Given the description of an element on the screen output the (x, y) to click on. 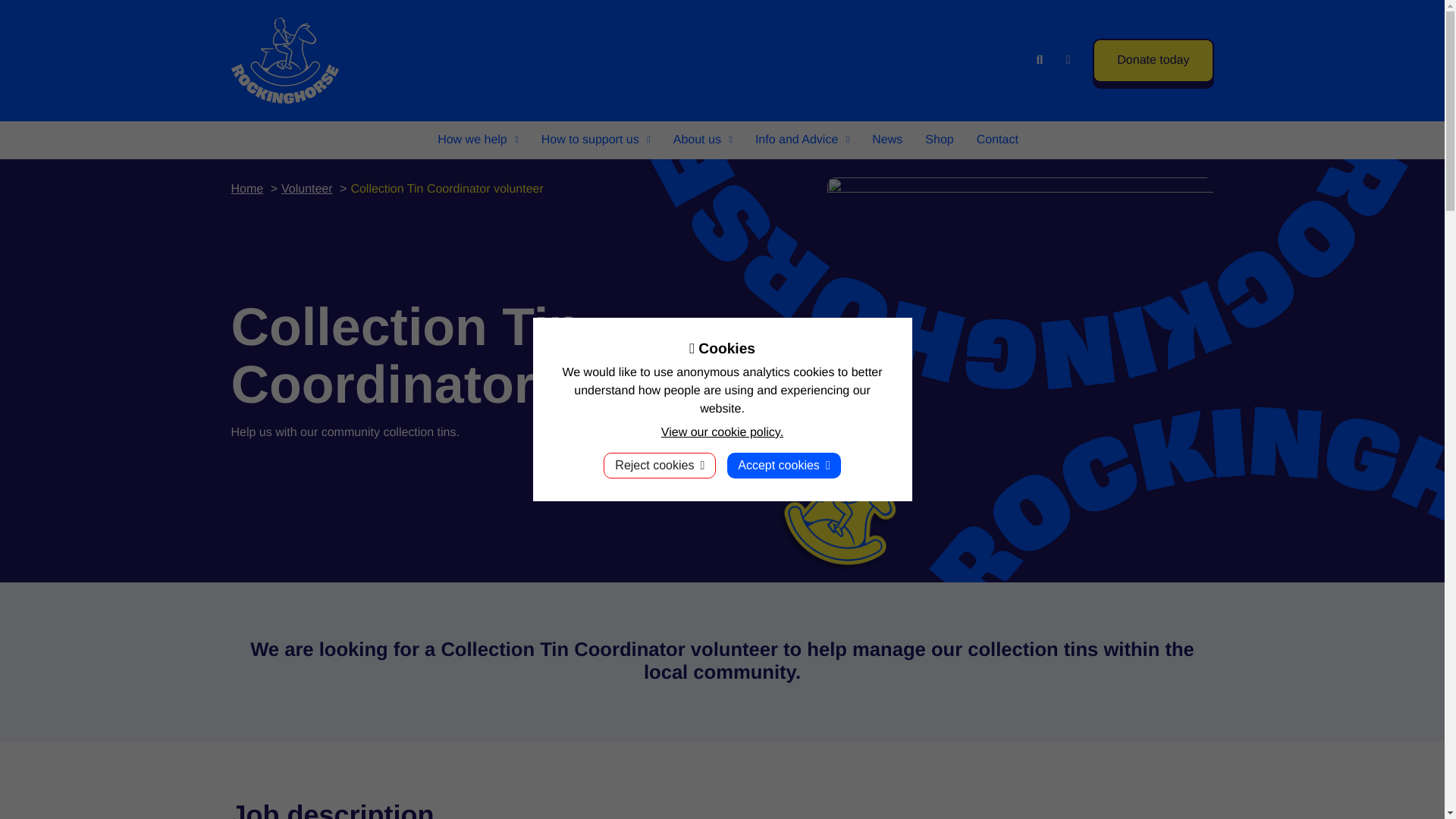
Accept cookies (783, 465)
Donate today (1152, 60)
Reject cookies (660, 465)
Basket (1067, 60)
View our cookie policy. (722, 431)
Search (1039, 60)
News (887, 139)
Shop (938, 139)
Info and Advice (802, 139)
Contact (997, 139)
About us (703, 139)
Donate today (1152, 60)
